Given the description of an element on the screen output the (x, y) to click on. 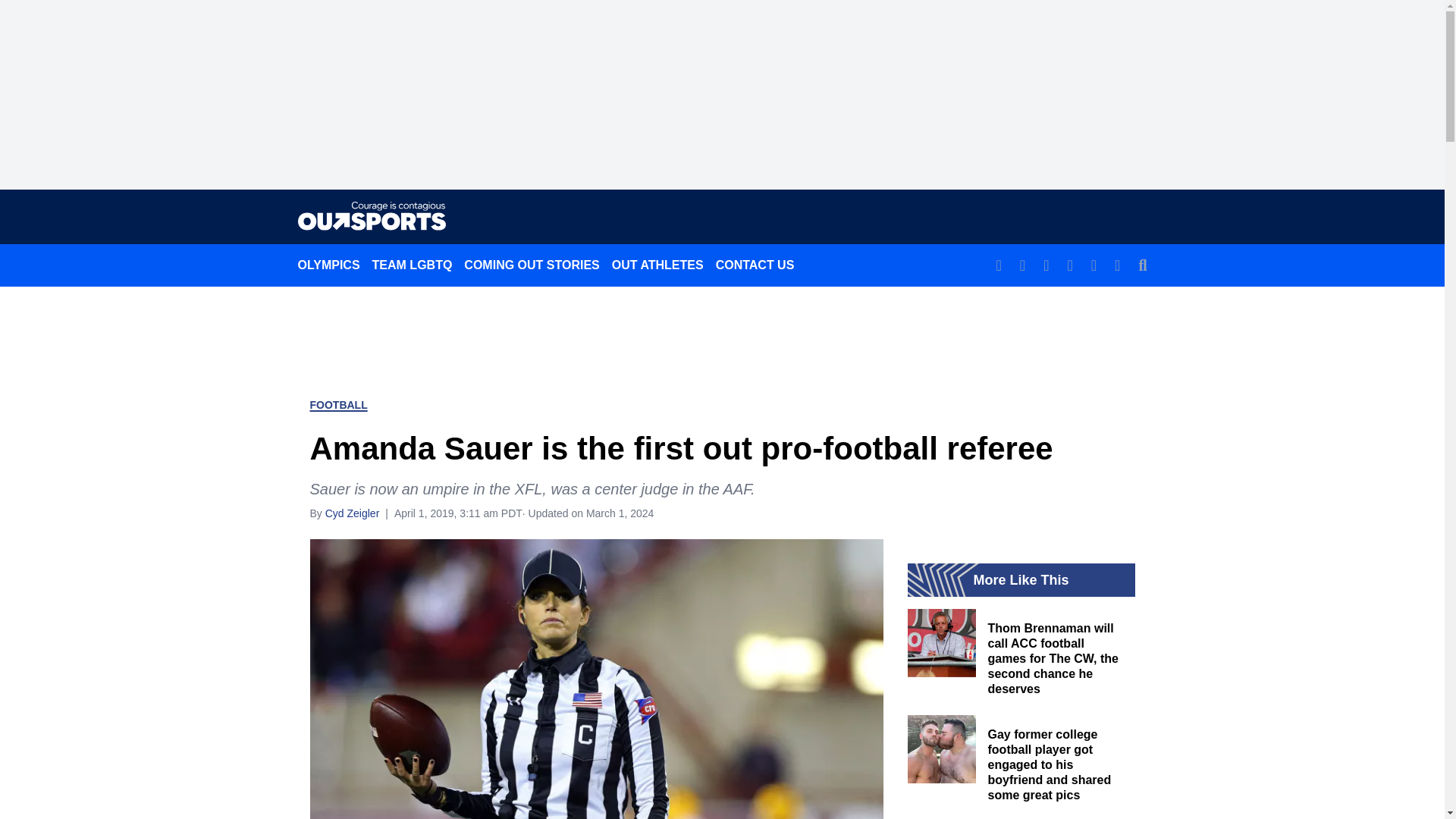
Cyd Zeigler (352, 512)
TEAM LGBTQ (412, 265)
OUT ATHLETES (657, 265)
OLYMPICS (328, 265)
COMING OUT STORIES (531, 265)
CONTACT US (755, 265)
FOOTBALL (337, 404)
